Given the description of an element on the screen output the (x, y) to click on. 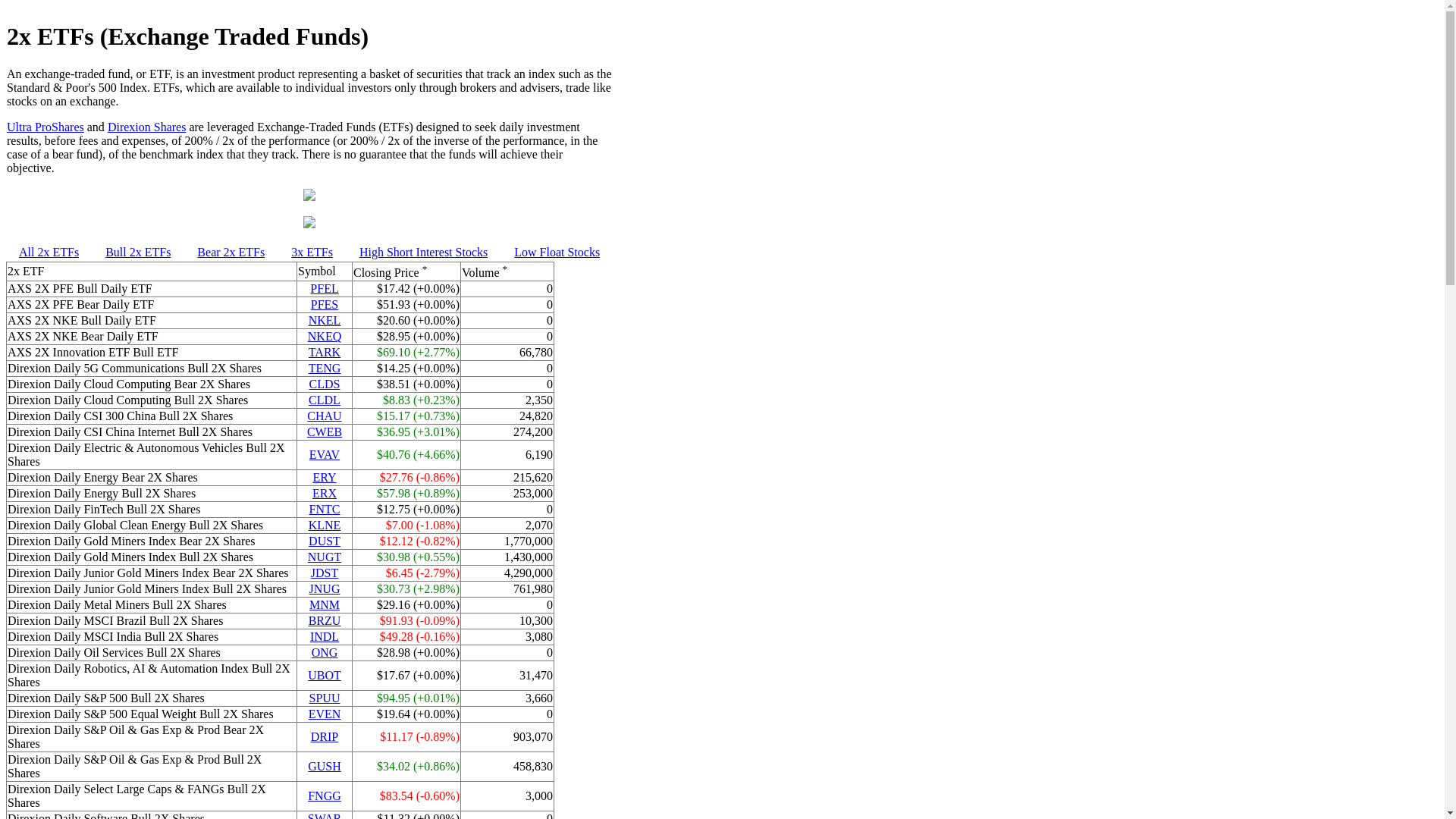
JDST Element type: text (324, 572)
FNTC Element type: text (324, 508)
Direxion Shares Element type: text (146, 126)
Bear 2x ETFs Element type: text (230, 251)
PFEL Element type: text (324, 288)
DRIP Element type: text (324, 736)
SPUU Element type: text (324, 697)
KLNE Element type: text (324, 524)
TENG Element type: text (324, 367)
EVAV Element type: text (324, 454)
Ultra ProShares Element type: text (45, 126)
CLDL Element type: text (324, 399)
TARK Element type: text (324, 351)
UBOT Element type: text (324, 674)
All 2x ETFs Element type: text (48, 251)
NKEL Element type: text (324, 319)
CWEB Element type: text (324, 431)
PFES Element type: text (324, 304)
Low Float Stocks Element type: text (556, 251)
NKEQ Element type: text (324, 335)
High Short Interest Stocks Element type: text (423, 251)
BRZU Element type: text (324, 620)
EVEN Element type: text (324, 713)
ERY Element type: text (323, 476)
3x ETFs Element type: text (311, 251)
FNGG Element type: text (324, 795)
DUST Element type: text (324, 540)
ONG Element type: text (324, 652)
CHAU Element type: text (324, 415)
ERX Element type: text (324, 492)
Bull 2x ETFs Element type: text (137, 251)
NUGT Element type: text (324, 556)
JNUG Element type: text (324, 588)
GUSH Element type: text (324, 765)
INDL Element type: text (324, 636)
MNM Element type: text (324, 604)
CLDS Element type: text (324, 383)
